Given the description of an element on the screen output the (x, y) to click on. 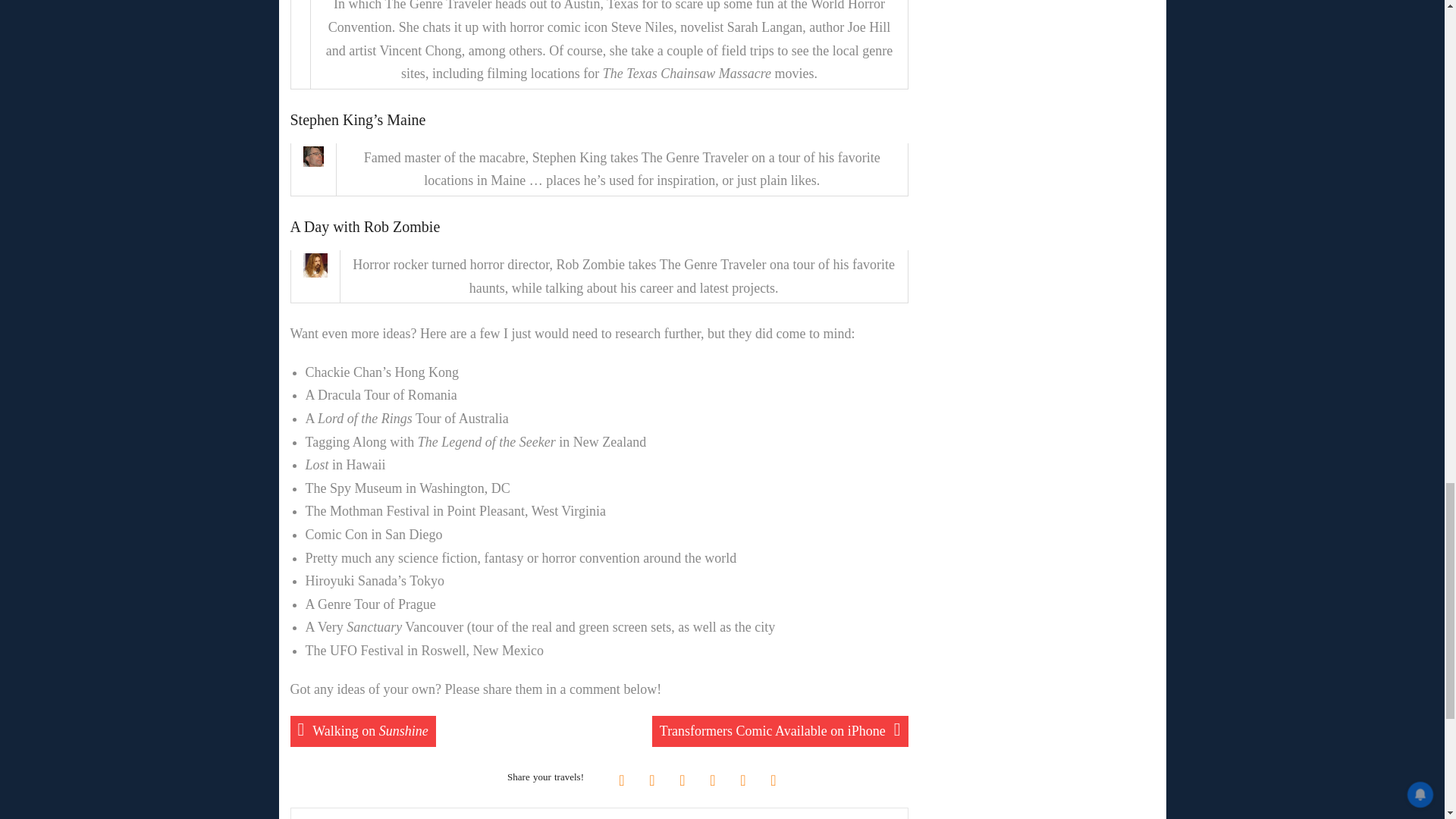
rob zombie (314, 265)
stephen king (312, 156)
